Given the description of an element on the screen output the (x, y) to click on. 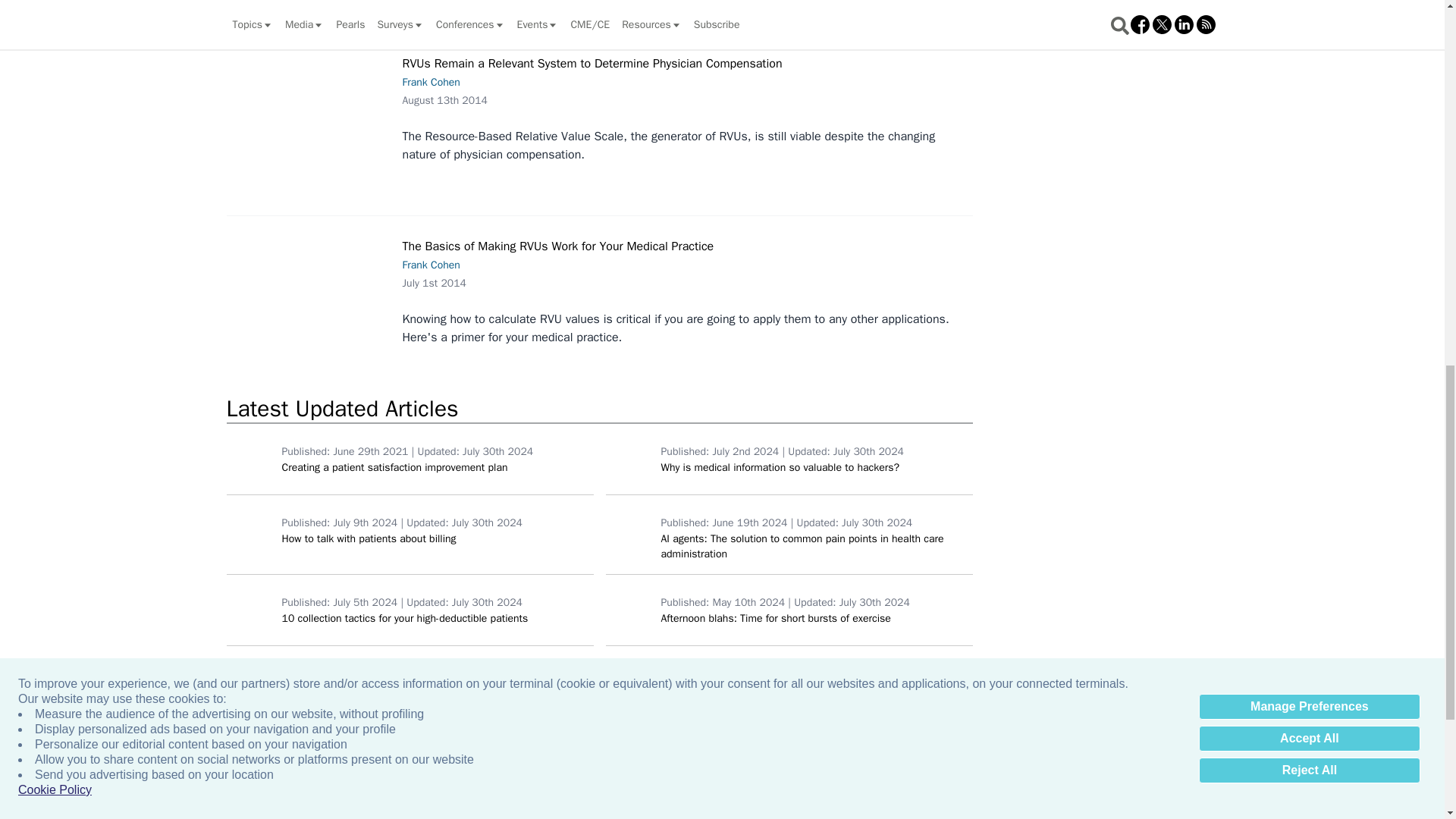
money text background (250, 609)
happy man pointing orange background (250, 458)
Bhavesh Vadhani (629, 458)
